Given the description of an element on the screen output the (x, y) to click on. 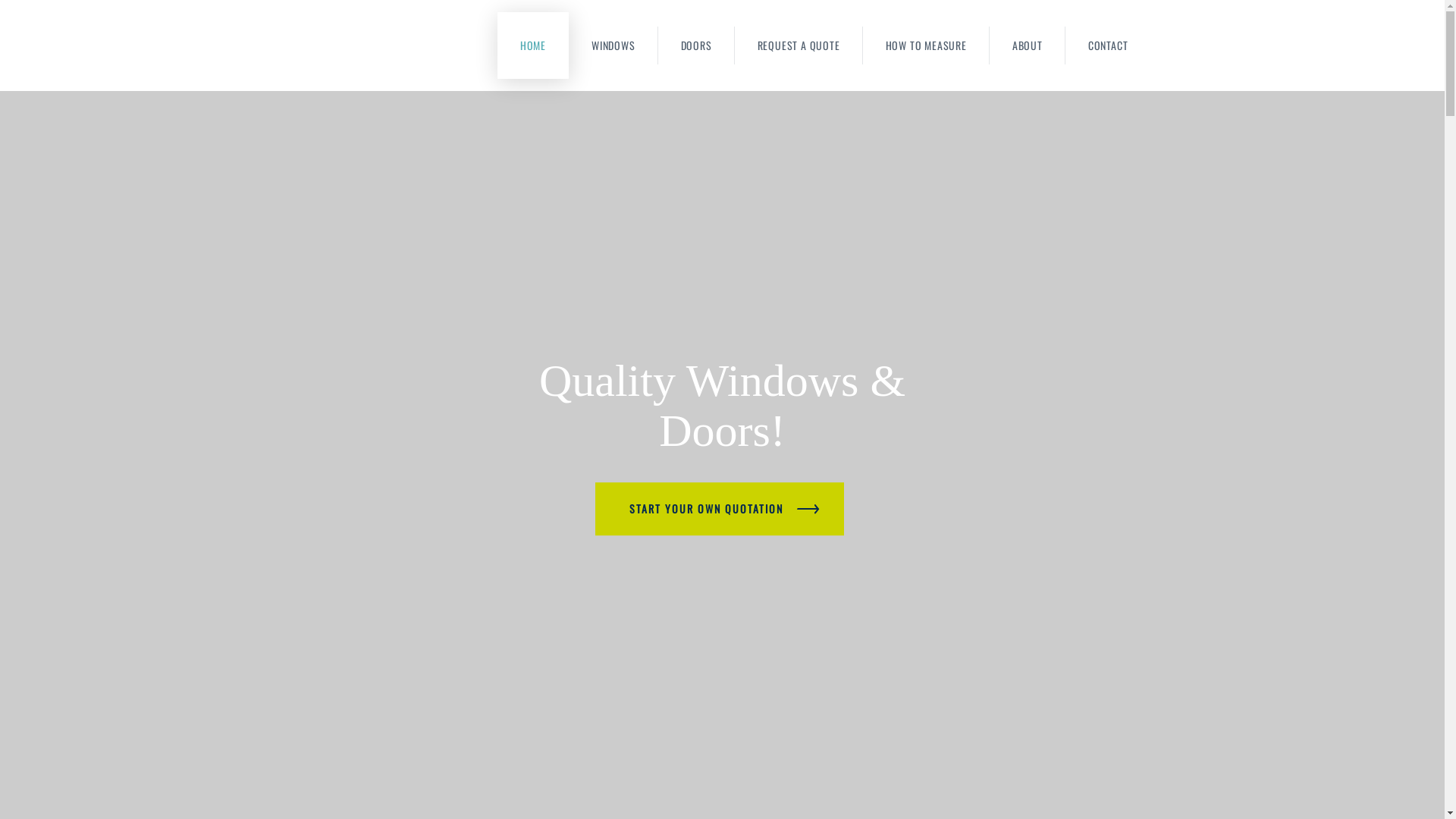
DOORS Element type: text (696, 45)
HOME Element type: text (532, 45)
WINDOWS Element type: text (613, 45)
REQUEST A QUOTE Element type: text (798, 45)
CONTACT Element type: text (1108, 45)
ABOUT Element type: text (1027, 45)
HOW TO MEASURE Element type: text (925, 45)
START YOUR OWN QUOTATION Element type: text (719, 508)
